Given the description of an element on the screen output the (x, y) to click on. 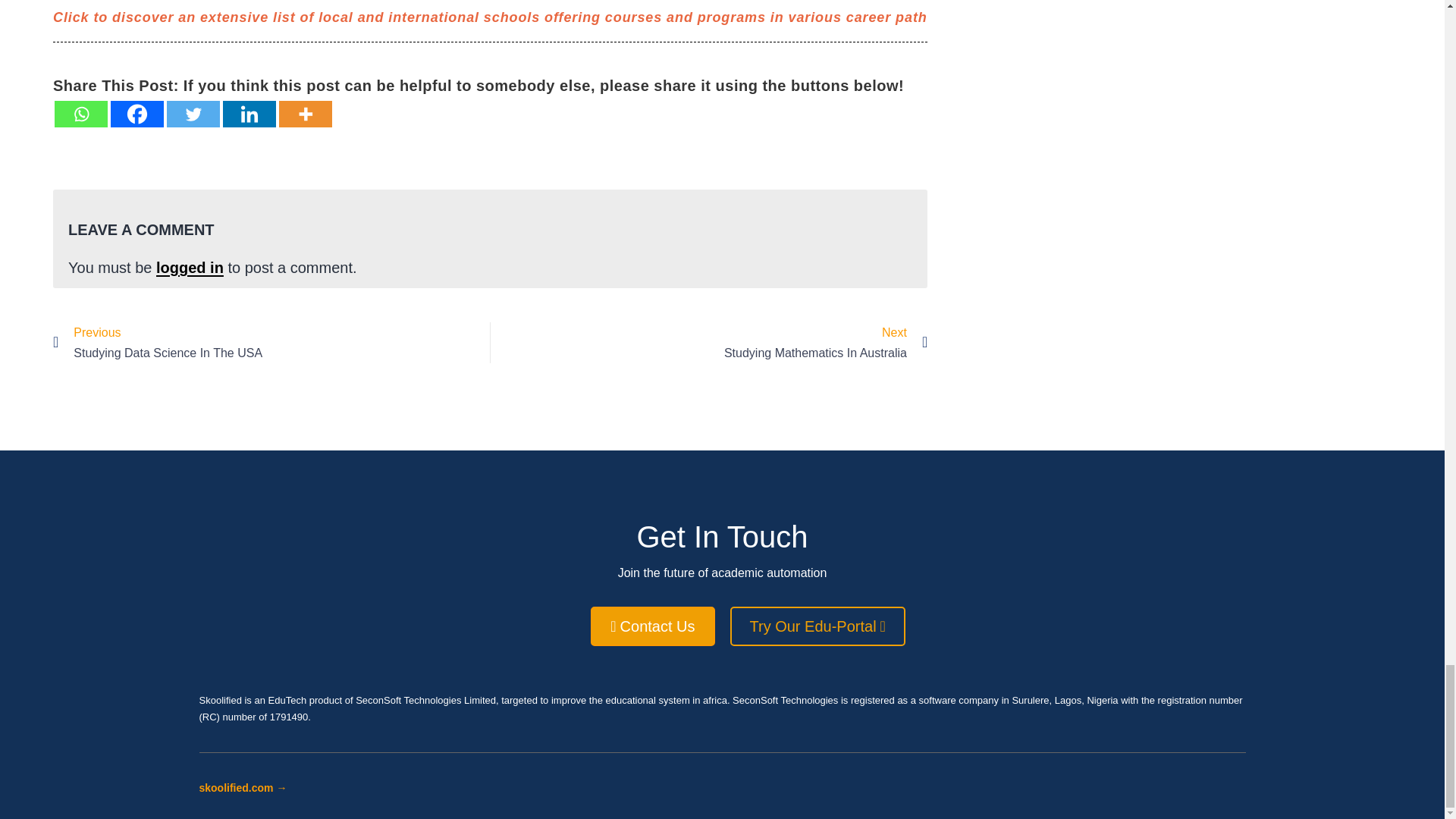
Whatsapp (81, 113)
logged in (189, 267)
Facebook (270, 342)
Linkedin (708, 342)
More (136, 113)
Twitter (249, 113)
Contact Us (305, 113)
